Given the description of an element on the screen output the (x, y) to click on. 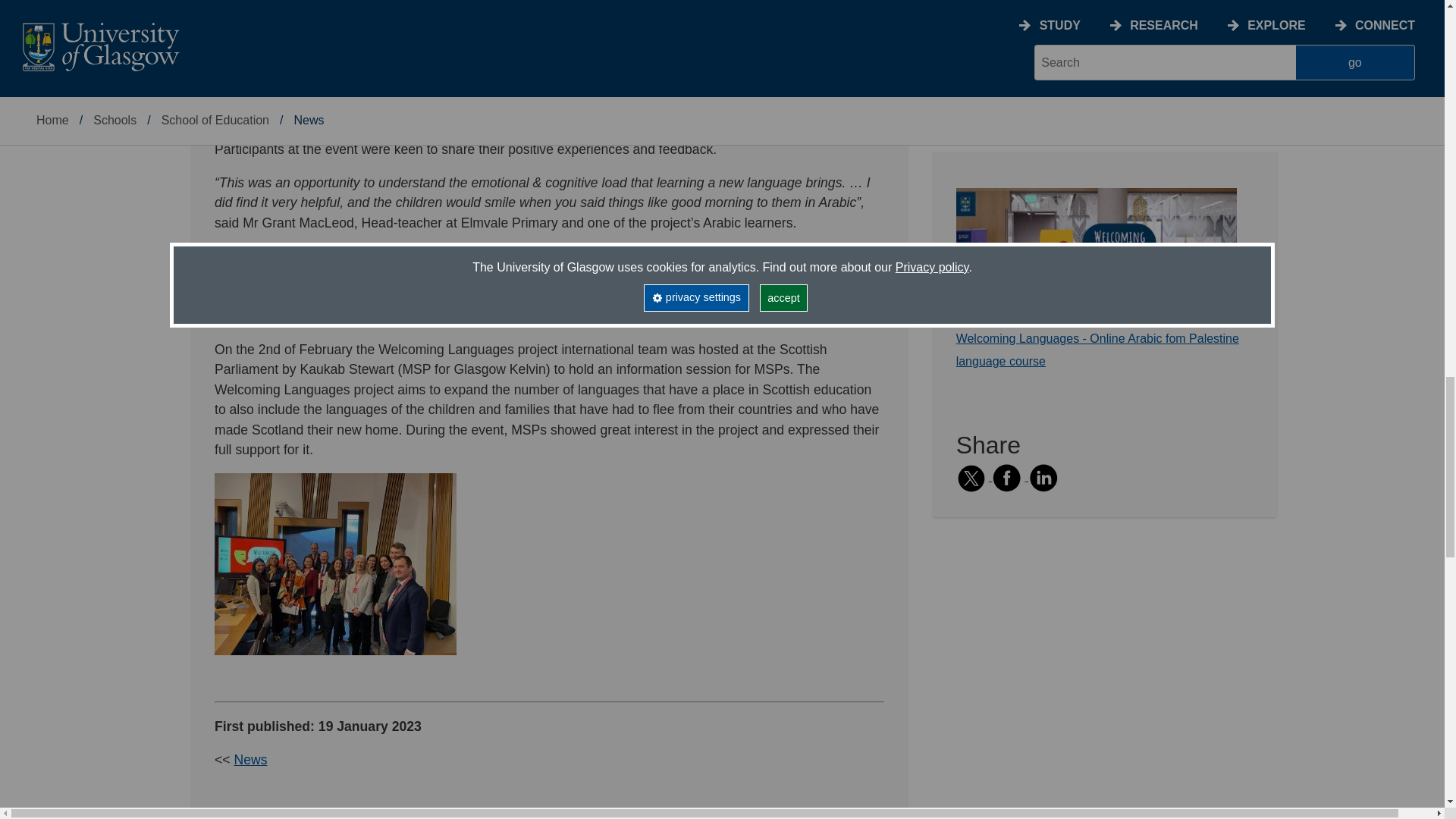
News (249, 759)
